Given the description of an element on the screen output the (x, y) to click on. 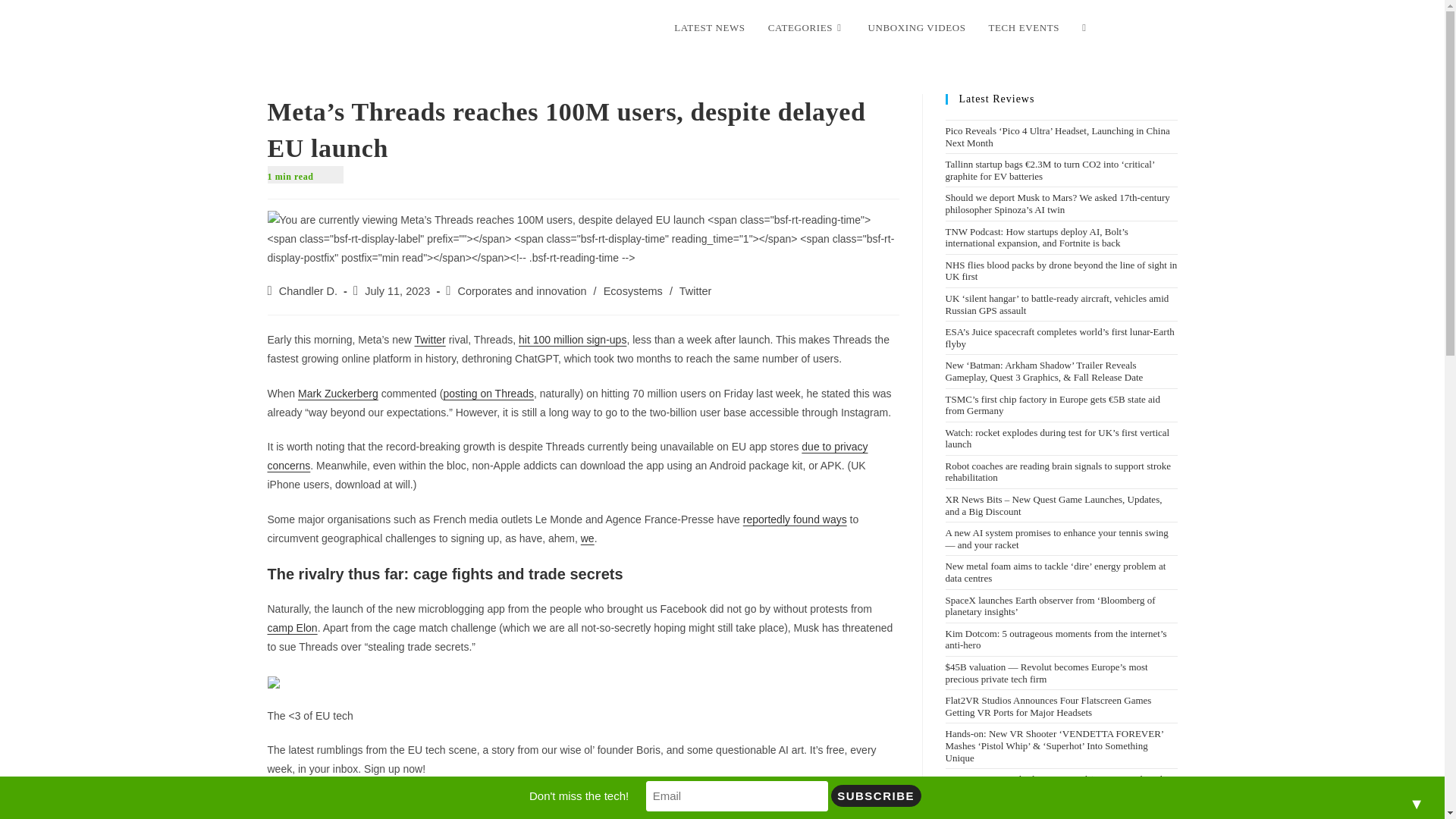
Subscribe (876, 795)
Chandler D. (308, 291)
UNBOXING VIDEOS (916, 28)
Posts by Chandler D. (308, 291)
TECH EVENTS (1023, 28)
CATEGORIES (807, 28)
LATEST NEWS (708, 28)
